Given the description of an element on the screen output the (x, y) to click on. 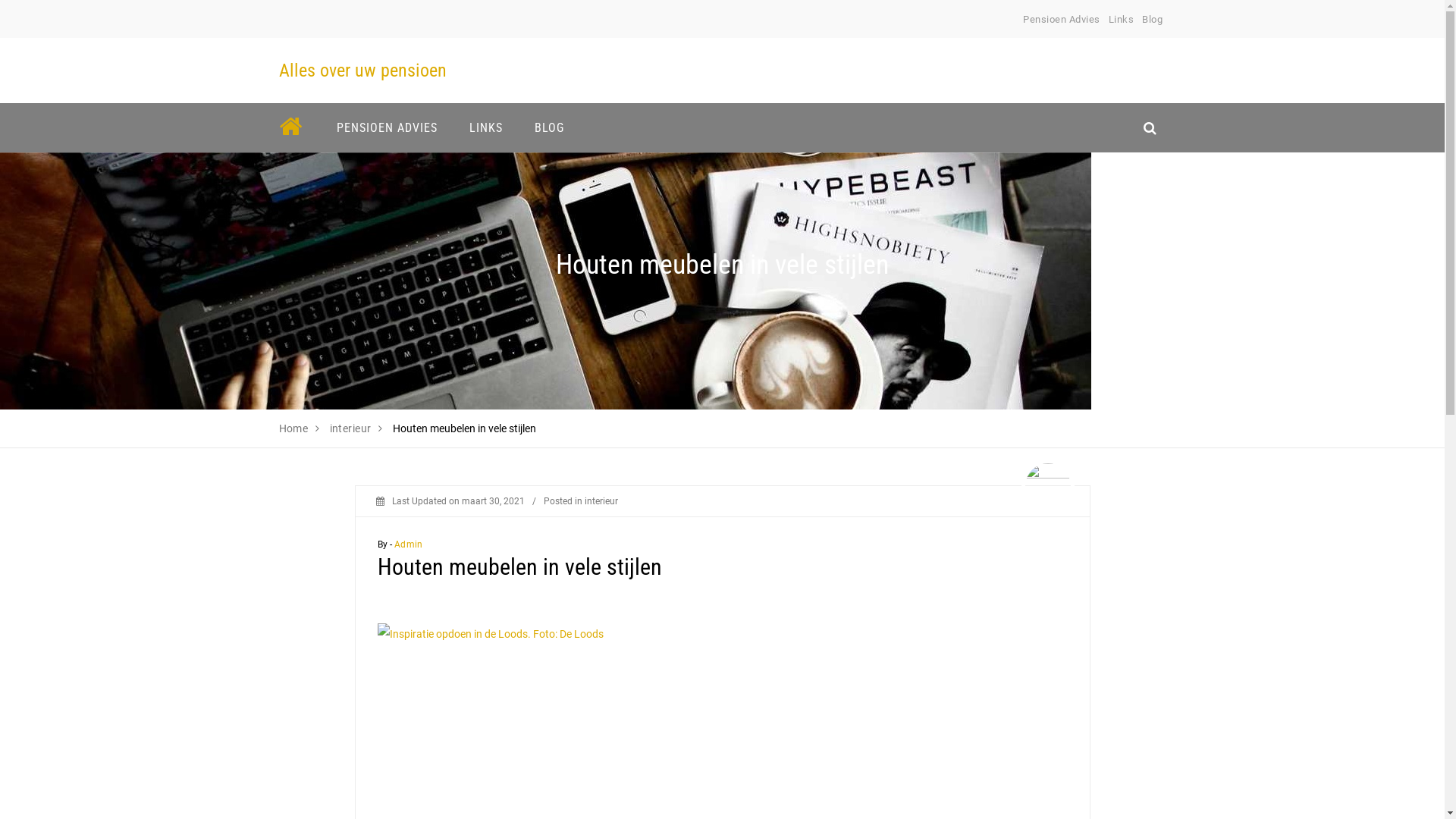
Pensioen Advies Element type: text (1061, 19)
Alles over uw pensioen Element type: text (362, 70)
Links Element type: text (1121, 19)
interieur Element type: text (350, 428)
Home Element type: text (293, 428)
PENSIOEN ADVIES Element type: text (386, 127)
search_icon Element type: hover (1148, 127)
interieur Element type: text (600, 500)
LINKS Element type: text (485, 127)
Blog Element type: text (1152, 19)
Admin Element type: text (408, 544)
BLOG Element type: text (549, 127)
